Given the description of an element on the screen output the (x, y) to click on. 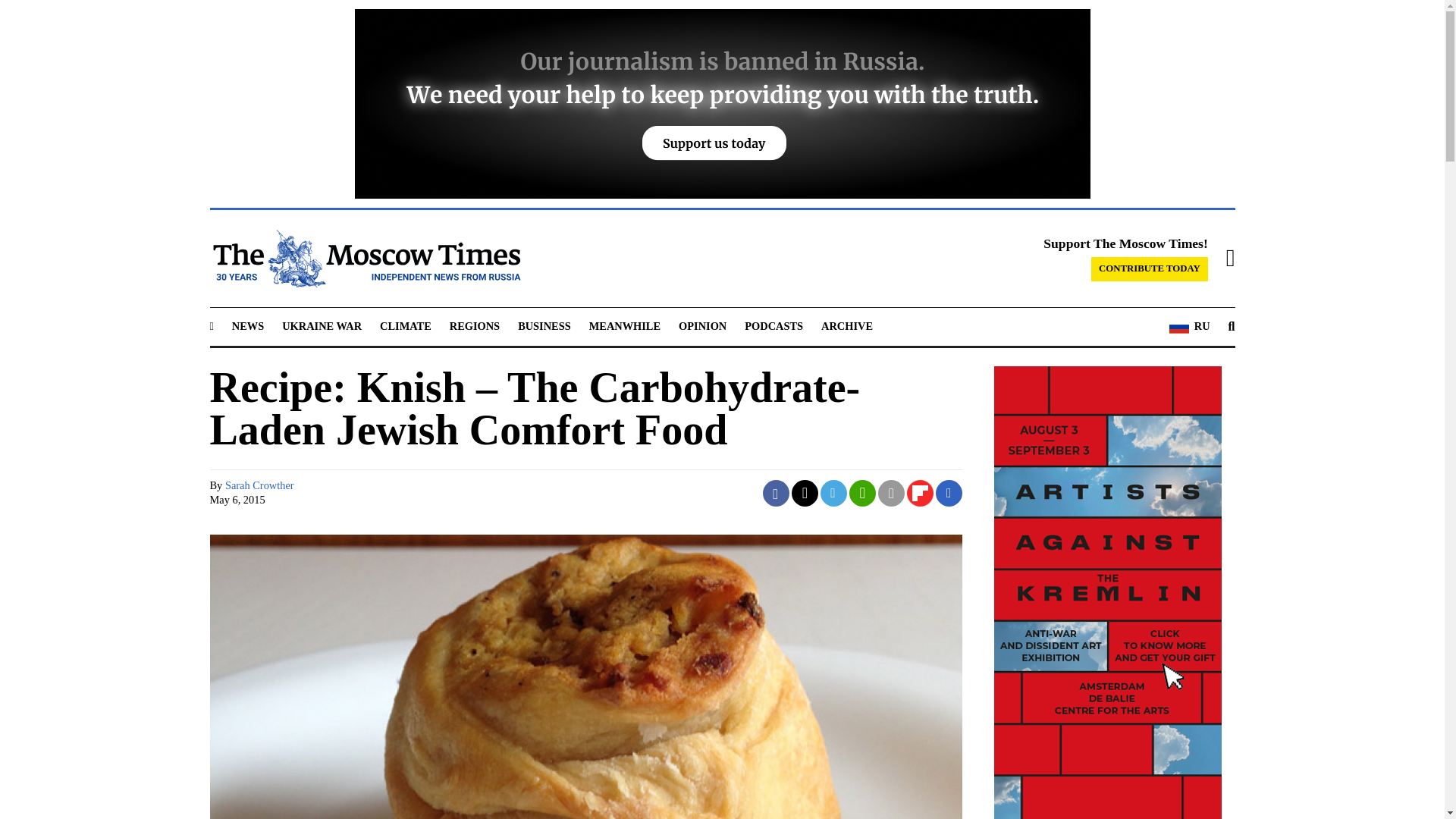
UKRAINE WAR (321, 326)
REGIONS (474, 326)
BUSINESS (544, 326)
Share on Twitter (805, 492)
PODCASTS (773, 326)
ARCHIVE (846, 326)
Share on Telegram (834, 492)
Share on Flipboard (920, 492)
MEANWHILE (625, 326)
CONTRIBUTE TODAY (1149, 269)
OPINION (702, 326)
Sarah Crowther (259, 485)
RU (1189, 326)
The Moscow Times - Independent News from Russia (364, 258)
CLIMATE (405, 326)
